Given the description of an element on the screen output the (x, y) to click on. 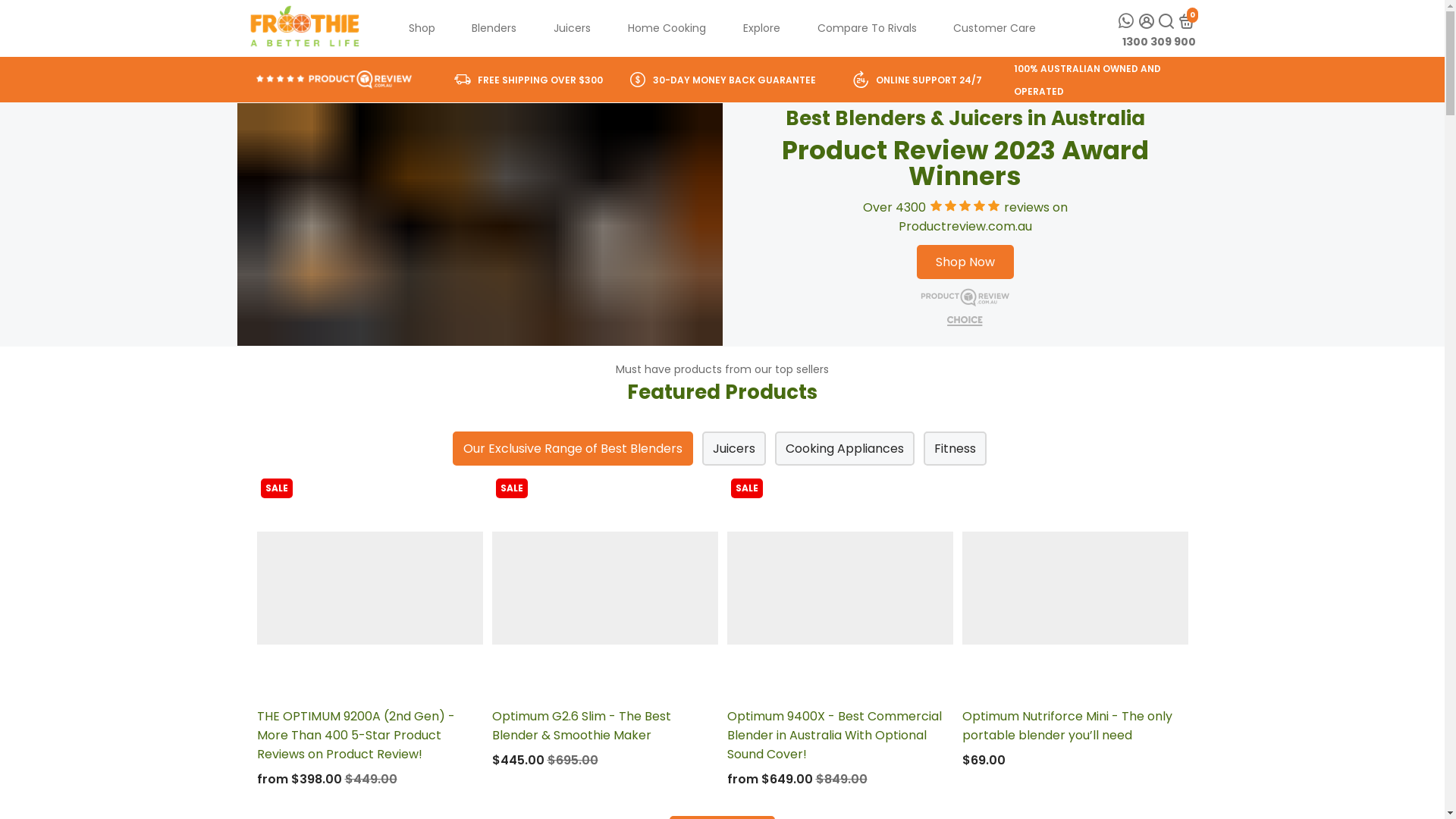
Compare To Rivals Element type: text (866, 28)
Our Exclusive Range of Best Blenders Element type: text (571, 448)
Juicers Element type: text (571, 28)
Juicers Element type: text (733, 448)
Cooking Appliances Element type: text (844, 448)
Home Cooking Element type: text (666, 28)
SALE Element type: text (369, 587)
SALE Element type: text (604, 587)
Optimum G2.6 Slim - The Best Blender & Smoothie Maker Element type: text (604, 725)
Explore Element type: text (761, 28)
Fitness Element type: text (954, 448)
1300 309 900 Element type: text (1158, 40)
Blenders Element type: text (493, 28)
SALE Element type: text (839, 587)
Customer Care Element type: text (994, 28)
Shop Element type: text (421, 28)
Shop Now Element type: text (964, 261)
